Given the description of an element on the screen output the (x, y) to click on. 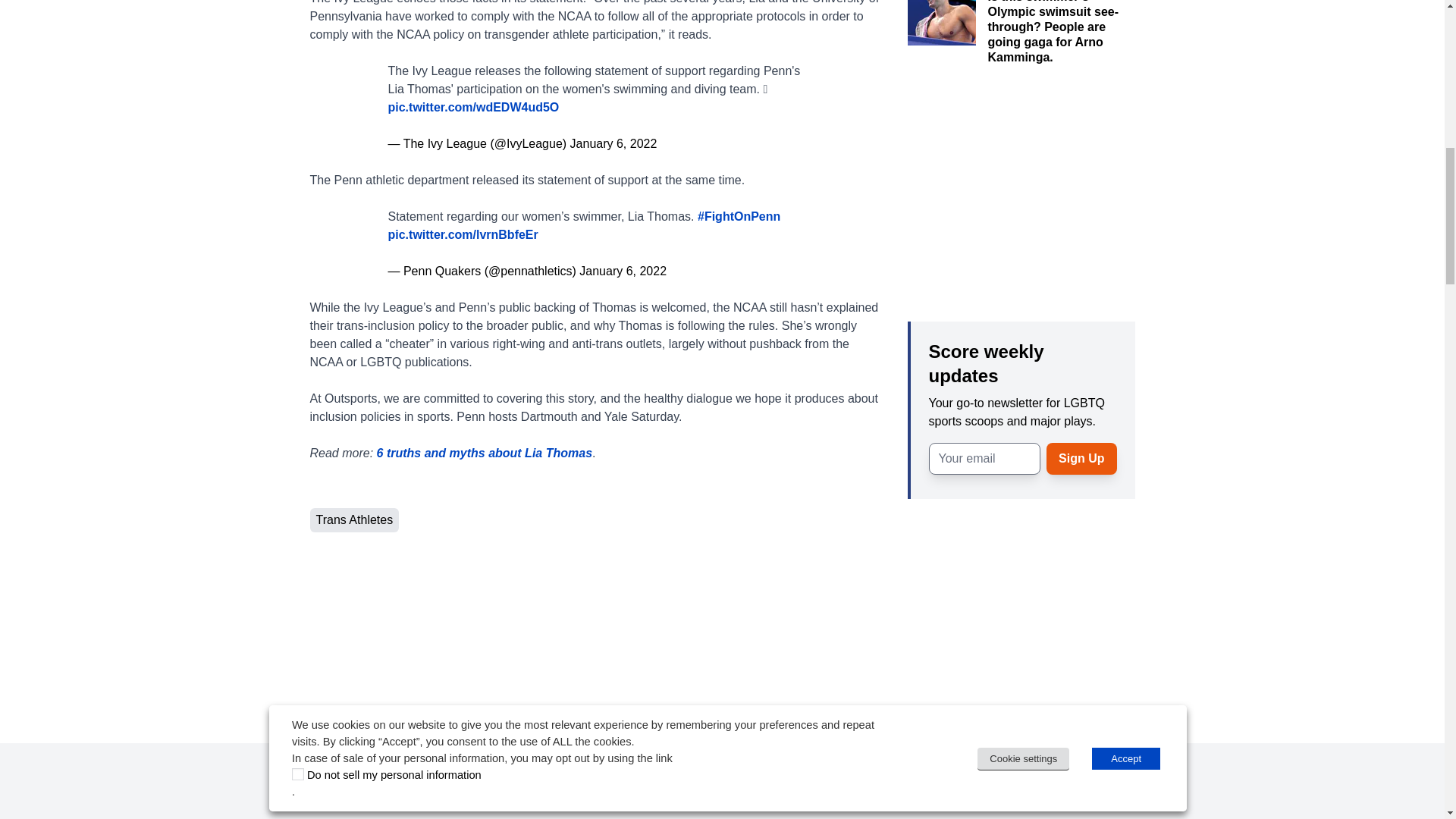
6 truths and myths about Lia Thomas (484, 451)
3rd party ad content (721, 793)
Trans Athletes (353, 519)
January 6, 2022 (622, 269)
January 6, 2022 (614, 142)
Sign Up (1081, 459)
3rd party ad content (1020, 624)
3rd party ad content (1020, 184)
